Given the description of an element on the screen output the (x, y) to click on. 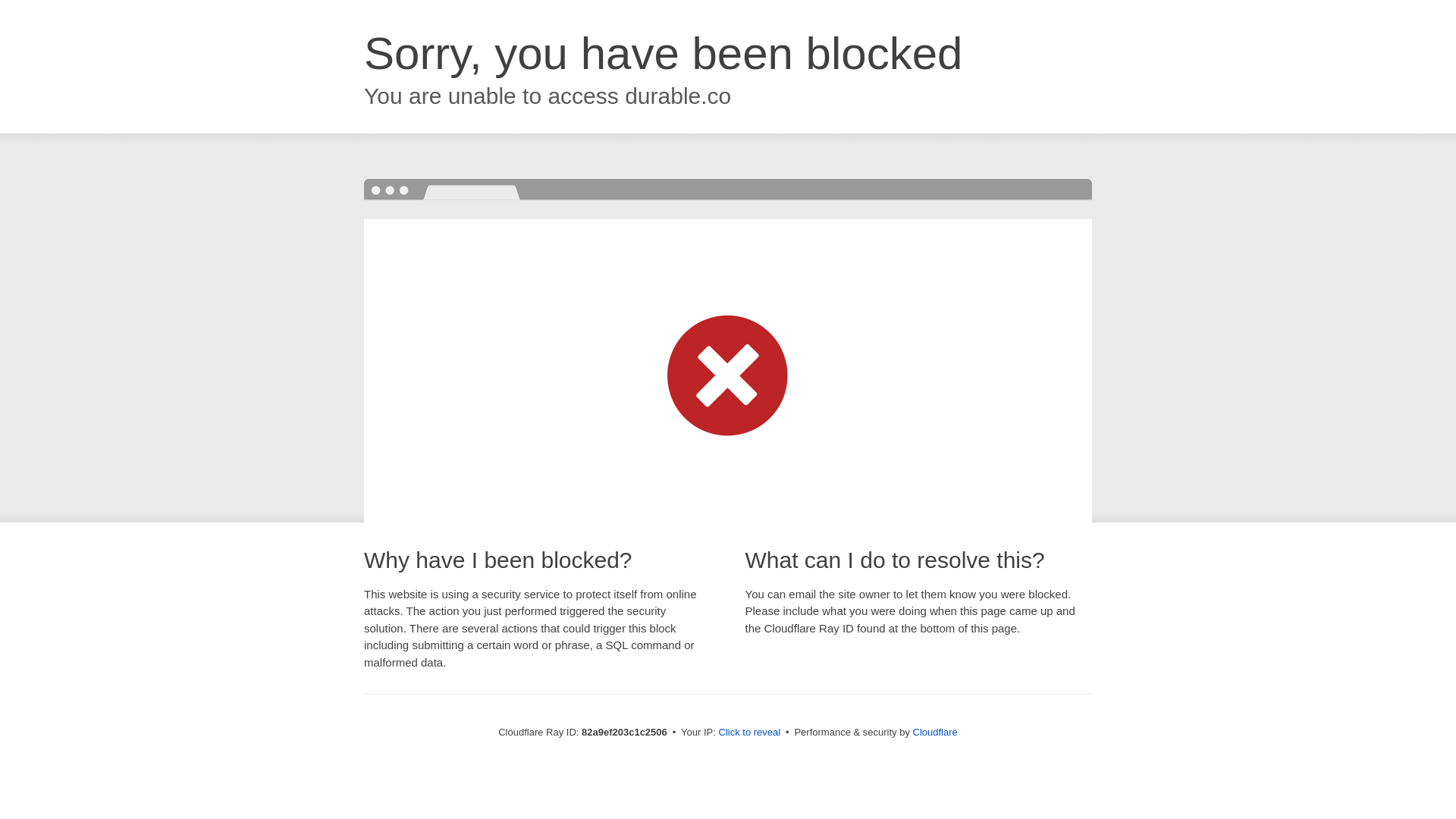
Click to reveal Element type: text (749, 732)
Cloudflare Element type: text (935, 731)
